Given the description of an element on the screen output the (x, y) to click on. 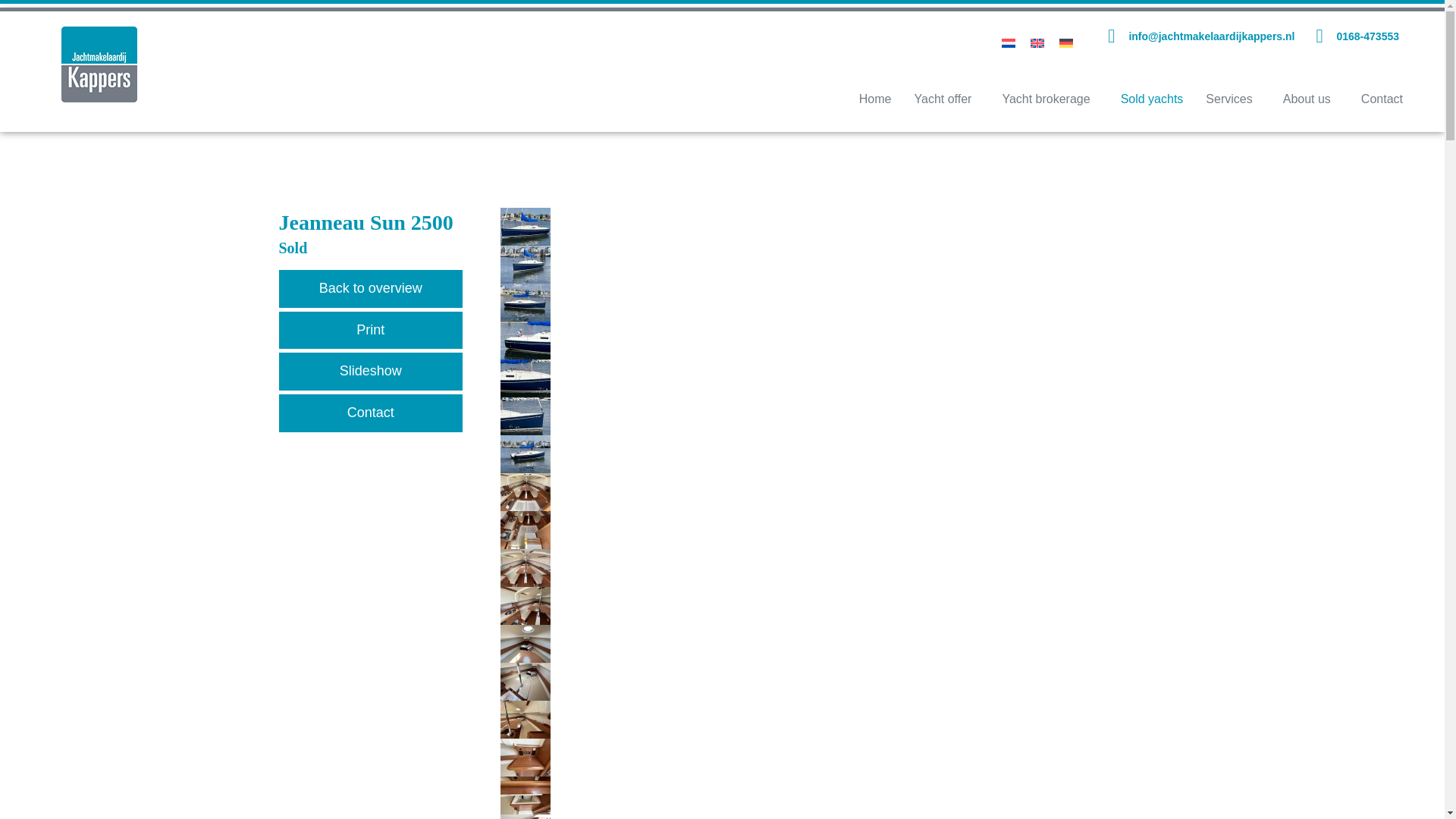
Print (371, 330)
About us (1310, 99)
0168-473553 (1367, 36)
Slideshow (371, 371)
Jeanneau Sun 2500 (833, 453)
Jeanneau Sun 2500 (833, 681)
Jeanneau Sun 2500 (833, 529)
Jeanneau Sun 2500 (833, 757)
Jeanneau Sun 2500 (833, 795)
Contact (371, 412)
Jeanneau Sun 2500 (833, 605)
Jeanneau Sun 2500 (833, 643)
Jeanneau Sun 2500 (833, 340)
Jeanneau Sun 2500 (833, 302)
